Given the description of an element on the screen output the (x, y) to click on. 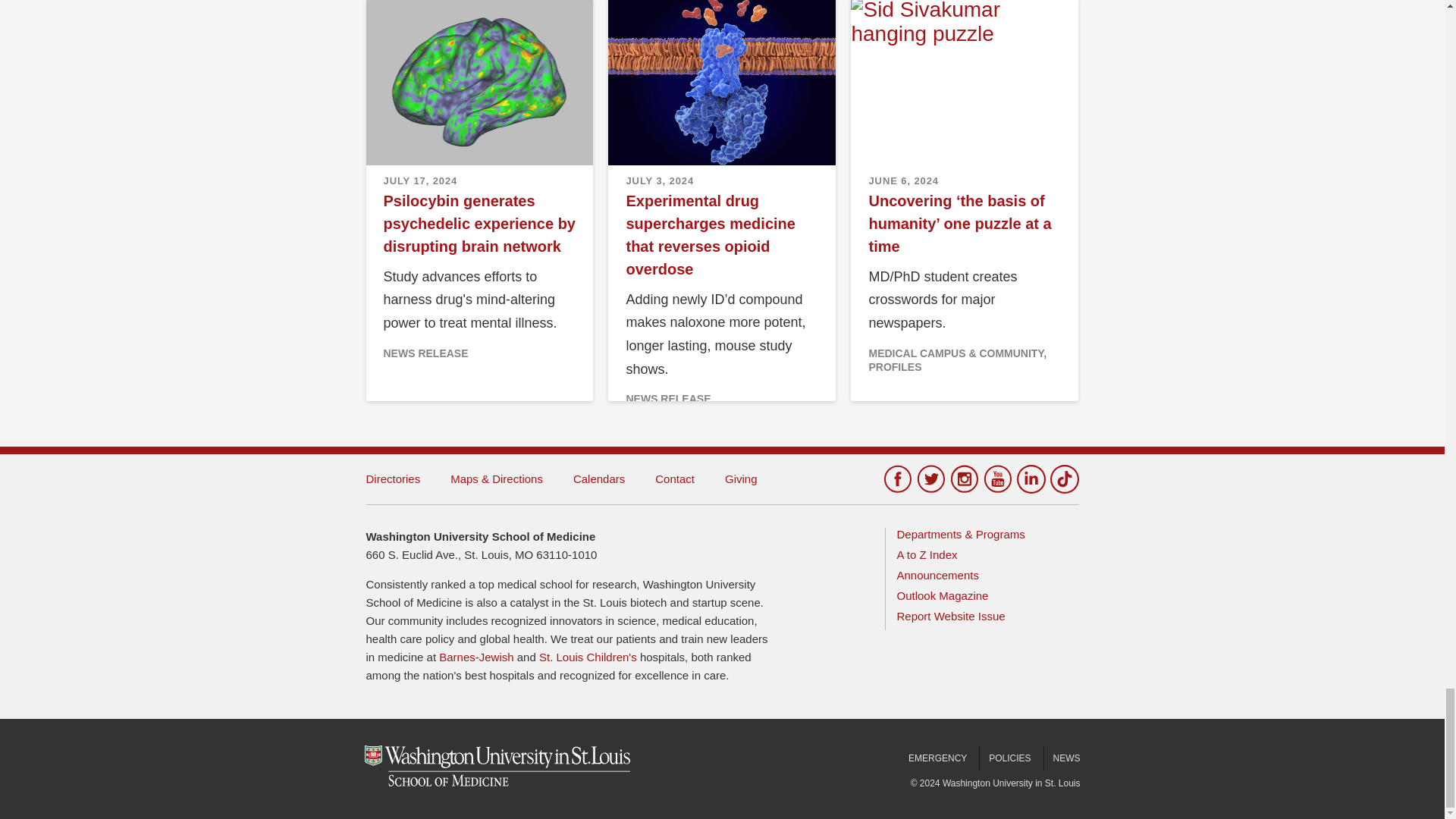
Facebook (896, 479)
YouTube (996, 479)
TikTok (1063, 479)
Twitter (929, 479)
LinkedIn (1030, 479)
Instagram (963, 479)
